Given the description of an element on the screen output the (x, y) to click on. 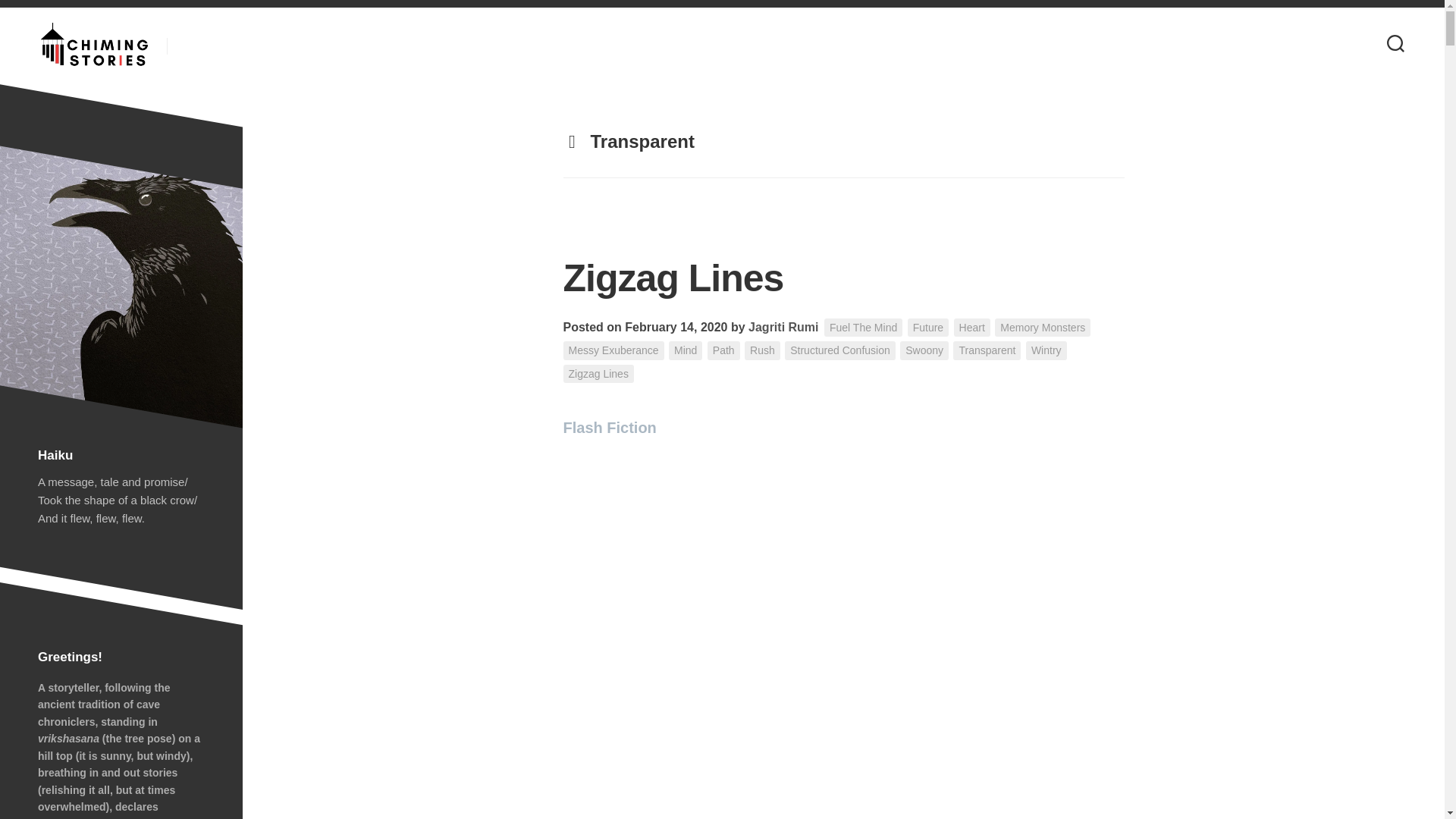
Jagriti Rumi (783, 327)
Mind (684, 350)
Heart (971, 327)
Future (928, 327)
Posts by Jagriti Rumi (783, 327)
Zigzag Lines (672, 278)
Path (723, 350)
Zigzag Lines (597, 374)
Wintry (1046, 350)
Fuel The Mind (863, 327)
